Given the description of an element on the screen output the (x, y) to click on. 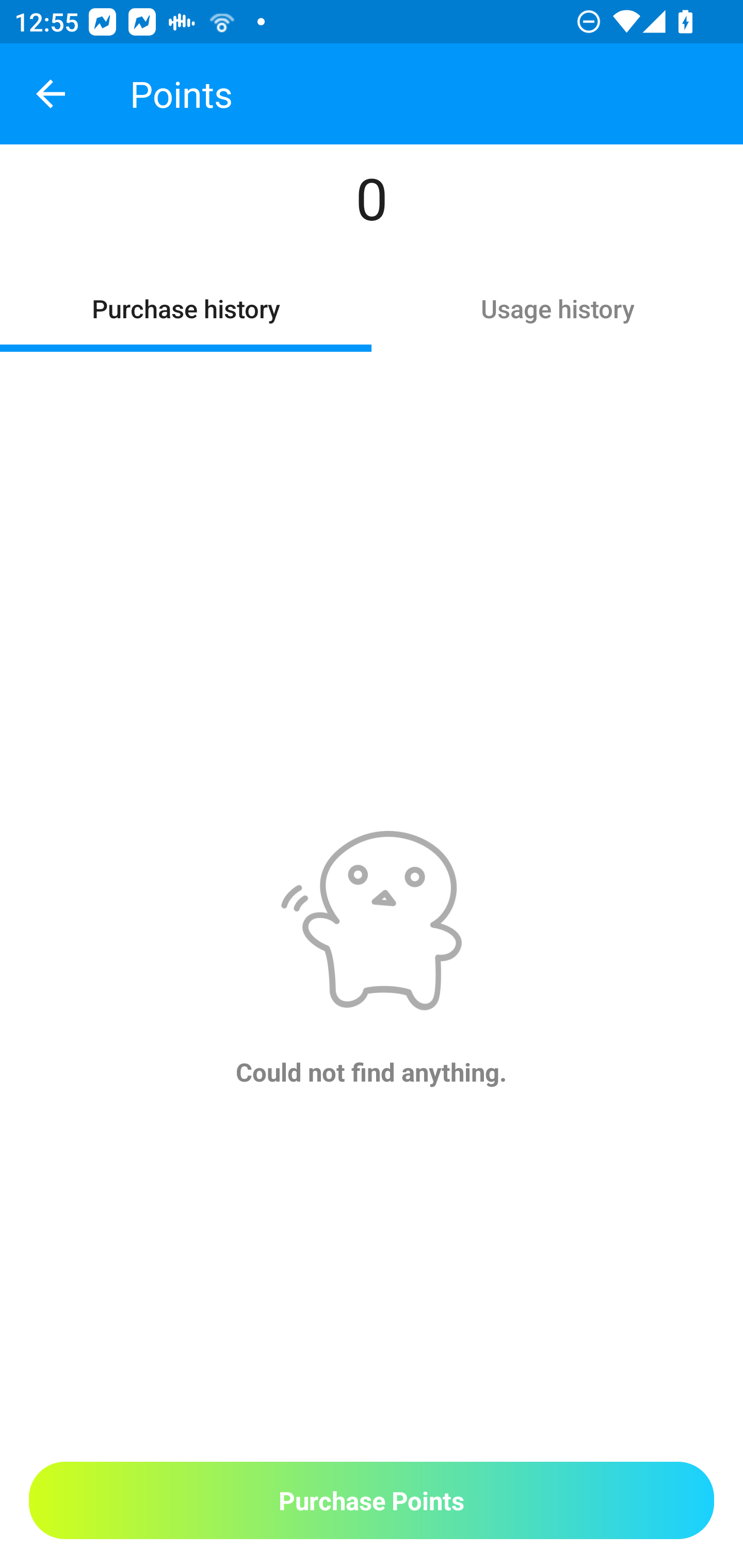
Navigate up (50, 93)
Usage history (557, 307)
Purchase Points (371, 1500)
